Given the description of an element on the screen output the (x, y) to click on. 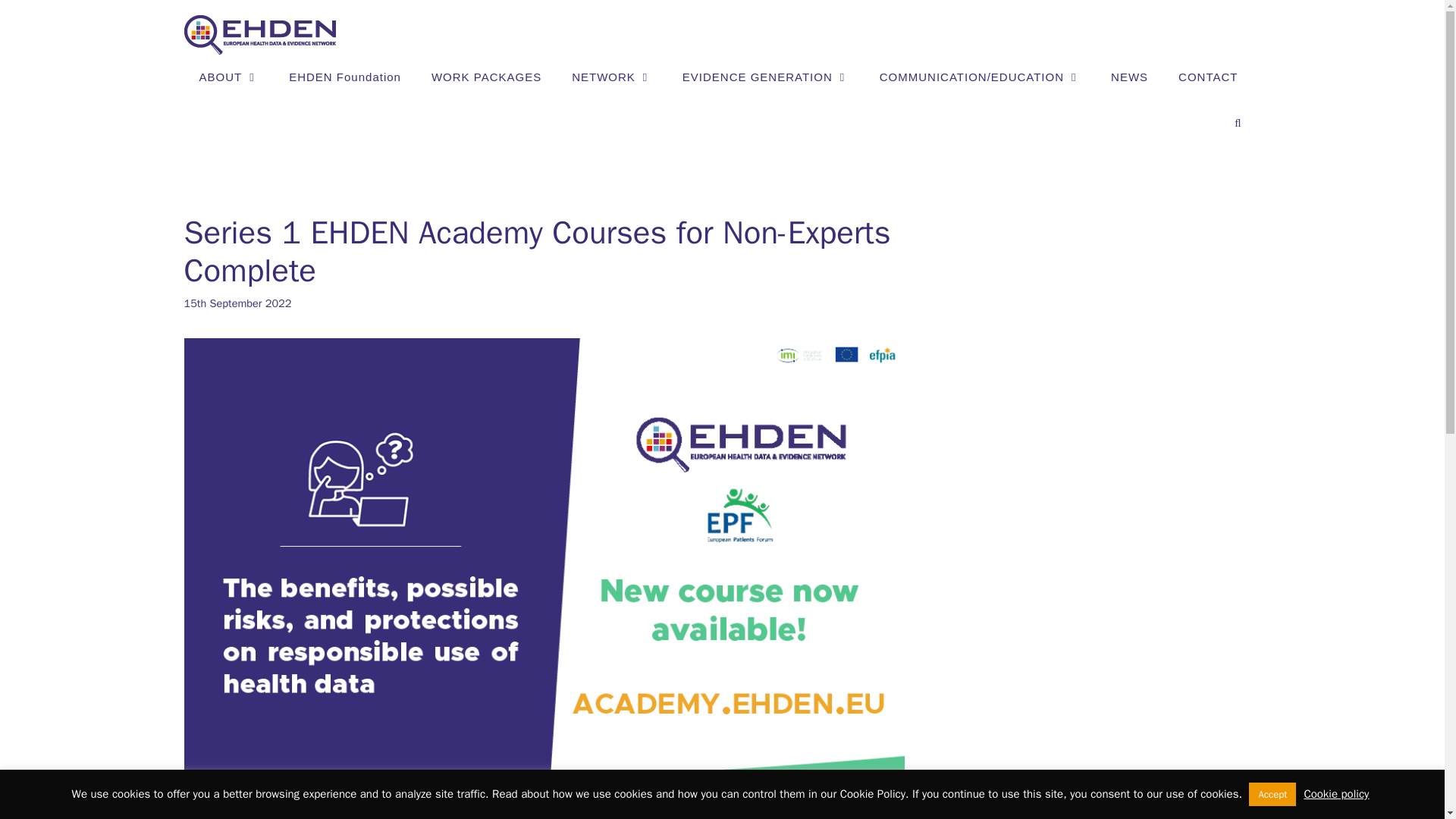
EHDEN Foundation (344, 76)
ABOUT (228, 76)
NEWS (1129, 76)
NETWORK (611, 76)
WORK PACKAGES (486, 76)
EVIDENCE GENERATION (765, 76)
ehden.eu (258, 33)
CONTACT (1207, 76)
ehden.eu (258, 34)
